Given the description of an element on the screen output the (x, y) to click on. 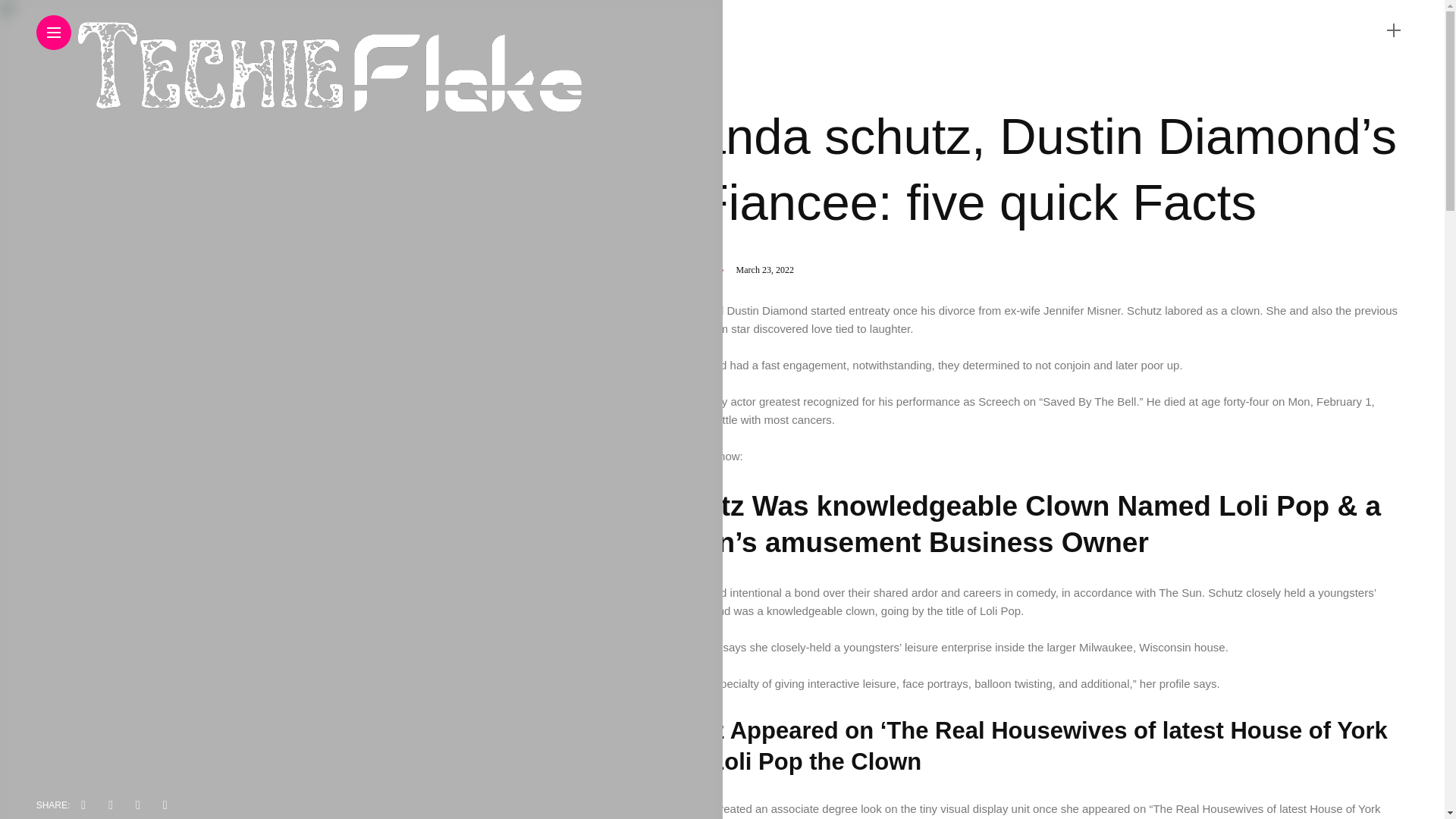
Posts by TechieFlake (691, 269)
